Given the description of an element on the screen output the (x, y) to click on. 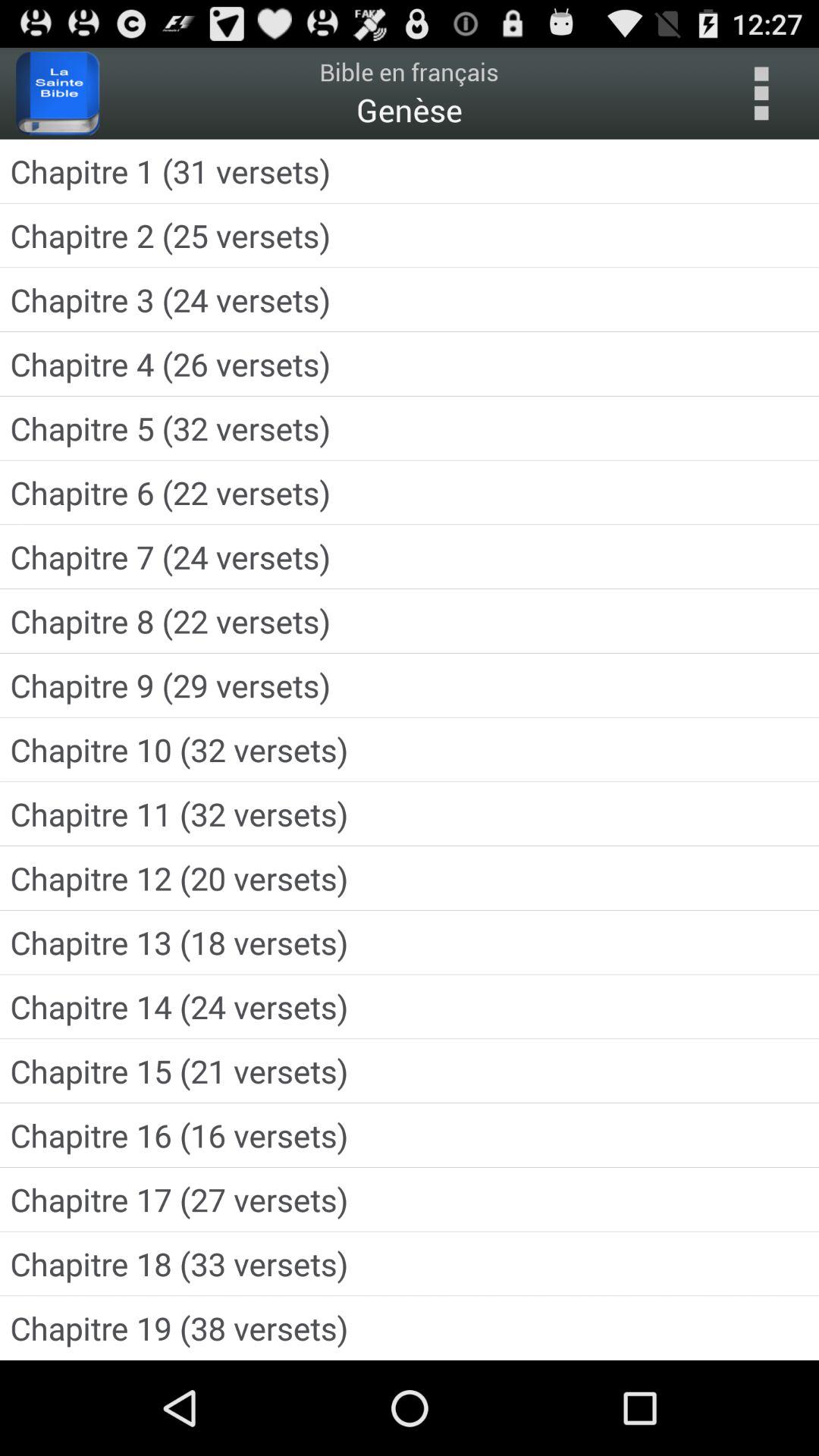
turn on the icon below chapitre 8 22 (409, 684)
